Given the description of an element on the screen output the (x, y) to click on. 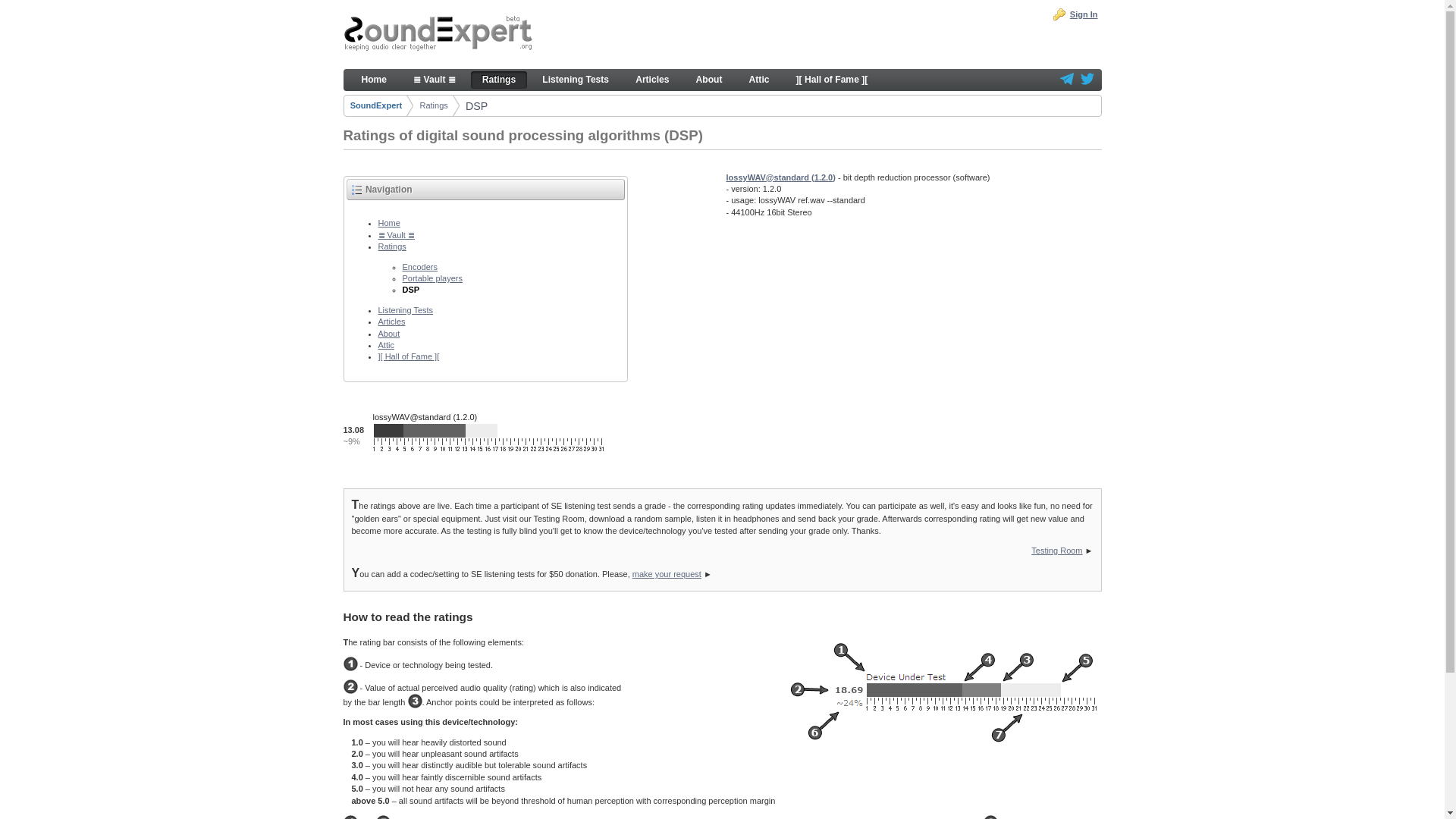
Listening Tests (404, 309)
About (387, 333)
Skip to Content (370, 20)
Attic (759, 79)
DSP (476, 105)
Attic (385, 344)
Home (374, 79)
About (708, 79)
Ratings (432, 105)
Encoders (418, 266)
